Given the description of an element on the screen output the (x, y) to click on. 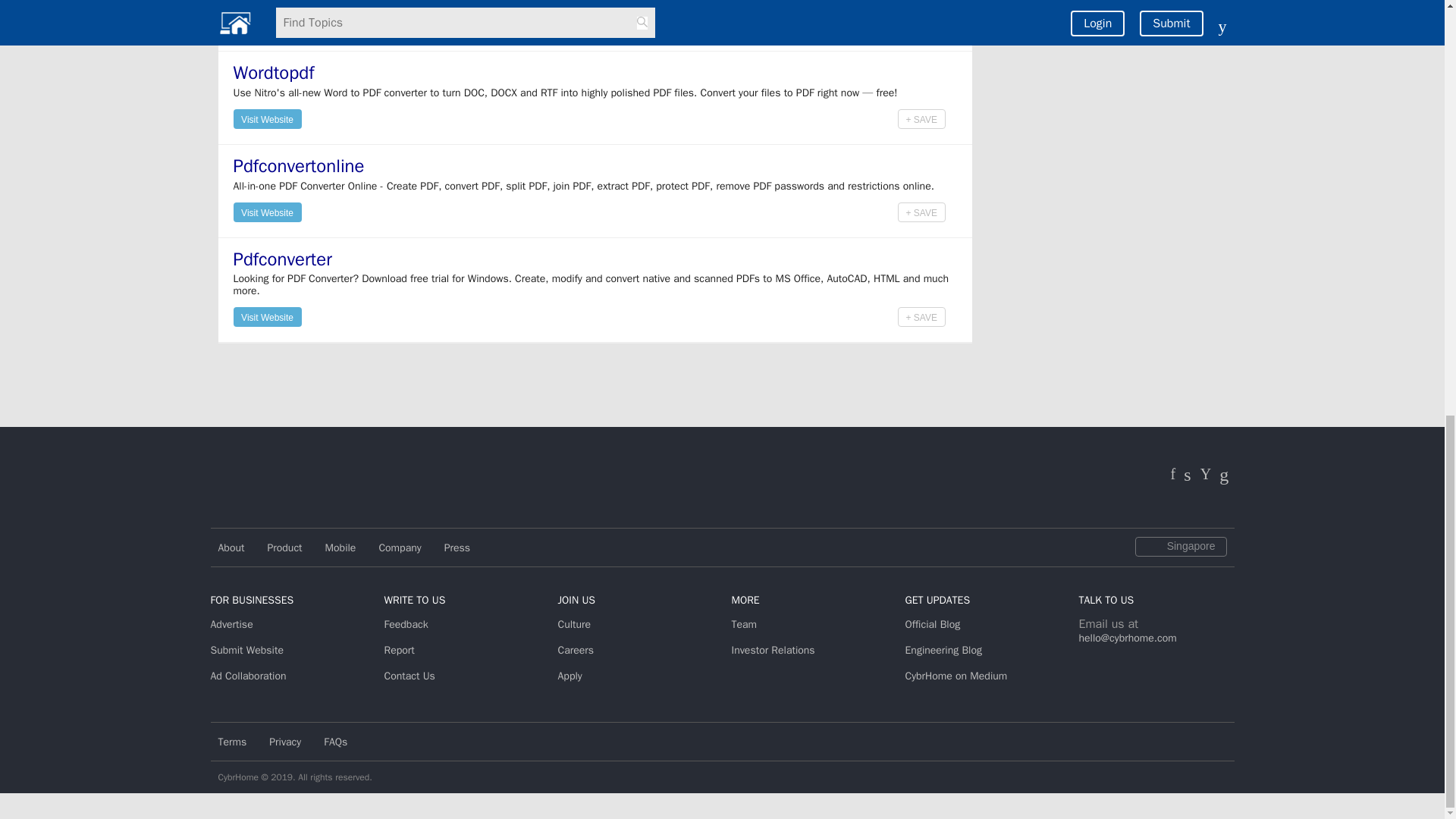
Visit Website (266, 25)
Visit Website (266, 24)
Wordtopdf (273, 72)
Visit Website (266, 118)
